Given the description of an element on the screen output the (x, y) to click on. 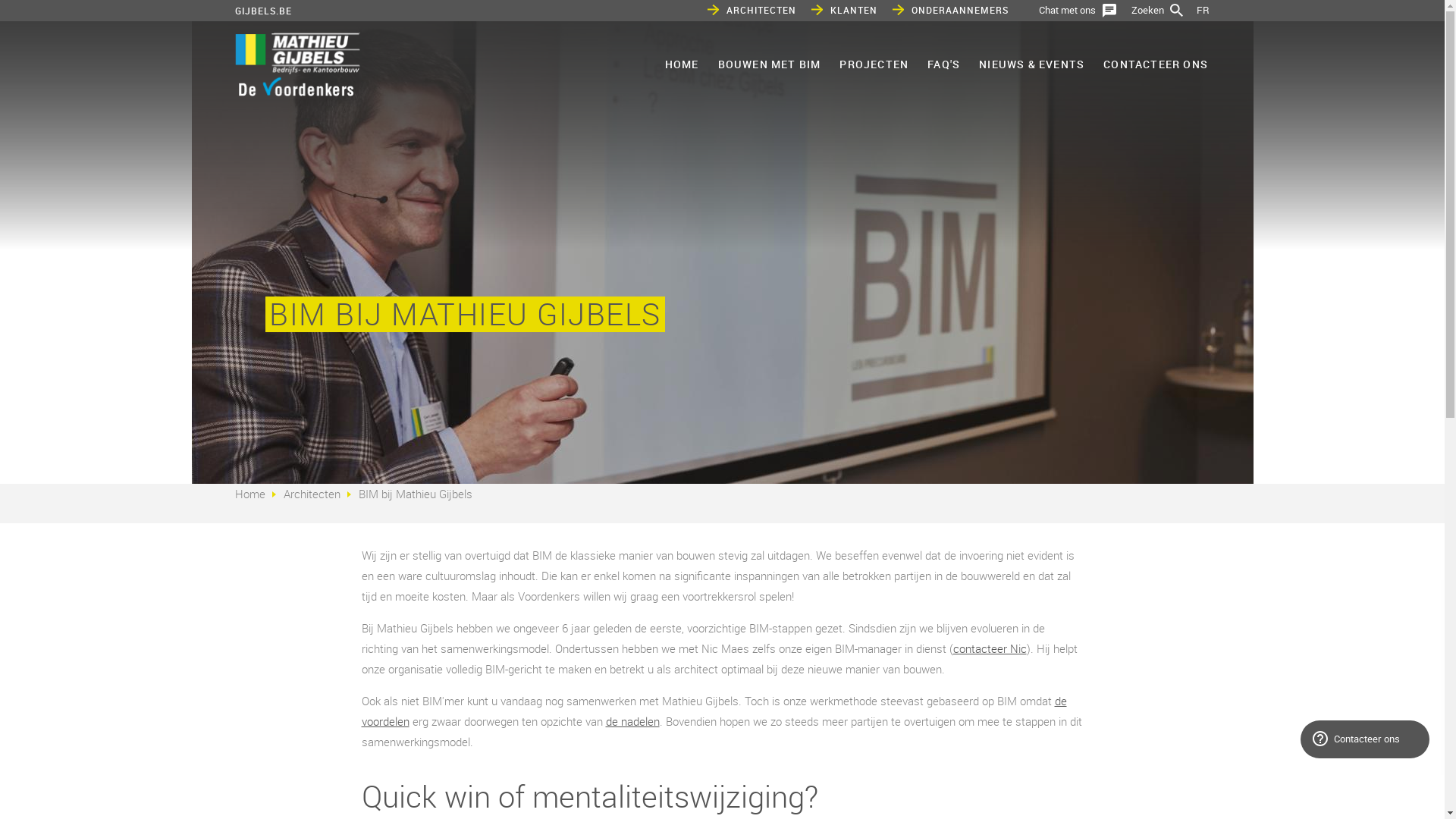
NIEUWS & EVENTS Element type: text (1030, 64)
ONDERAANNEMERS Element type: text (950, 10)
Architecten Element type: text (311, 493)
ARCHITECTEN Element type: text (751, 10)
Overslaan en naar de inhoud gaan Element type: text (83, 0)
FR Element type: text (1202, 9)
Home Element type: text (250, 493)
GIJBELS.BE Element type: text (263, 10)
KLANTEN Element type: text (844, 10)
Chat met ons Element type: text (1077, 10)
Home Element type: hover (297, 67)
HOME Element type: text (681, 64)
de nadelen Element type: text (631, 720)
BOUWEN MET BIM Element type: text (768, 64)
CONTACTEER ONS Element type: text (1154, 64)
de voordelen Element type: text (713, 710)
contacteer Nic Element type: text (989, 647)
Contacteer ons Element type: text (1364, 739)
FAQ'S Element type: text (942, 64)
PROJECTEN Element type: text (873, 64)
